Given the description of an element on the screen output the (x, y) to click on. 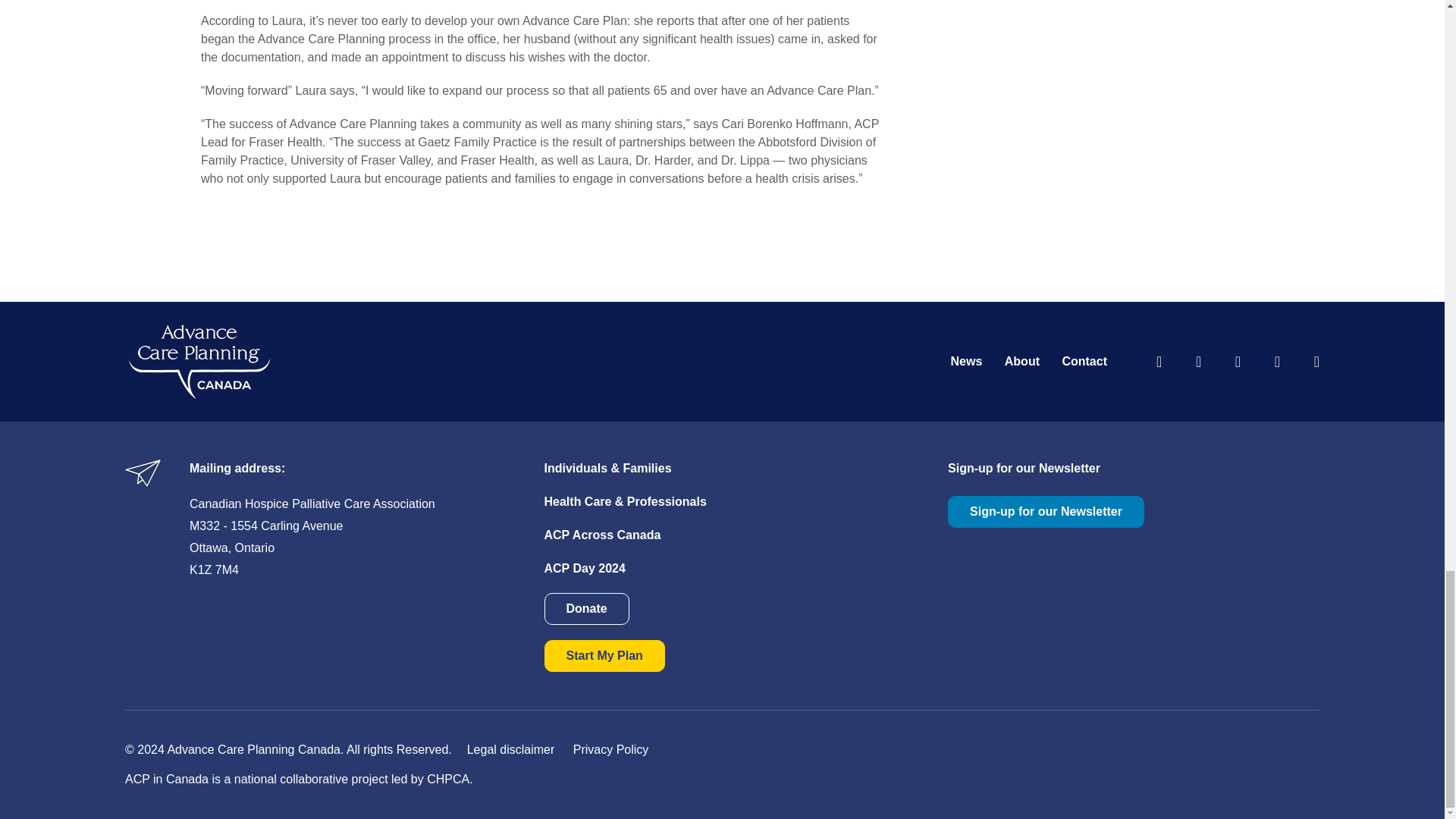
Contact (1083, 360)
About (1021, 360)
News (966, 360)
